Given the description of an element on the screen output the (x, y) to click on. 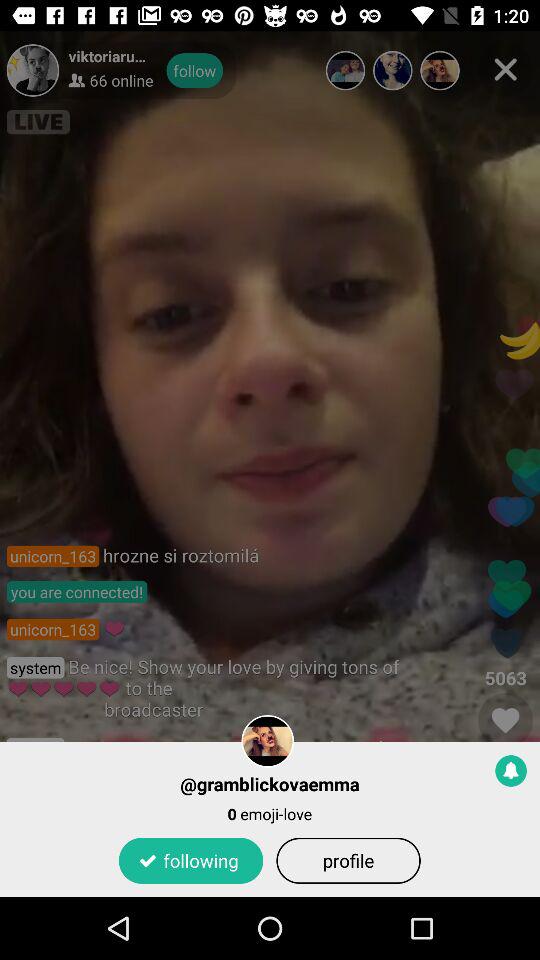
press the profile app (348, 860)
